Given the description of an element on the screen output the (x, y) to click on. 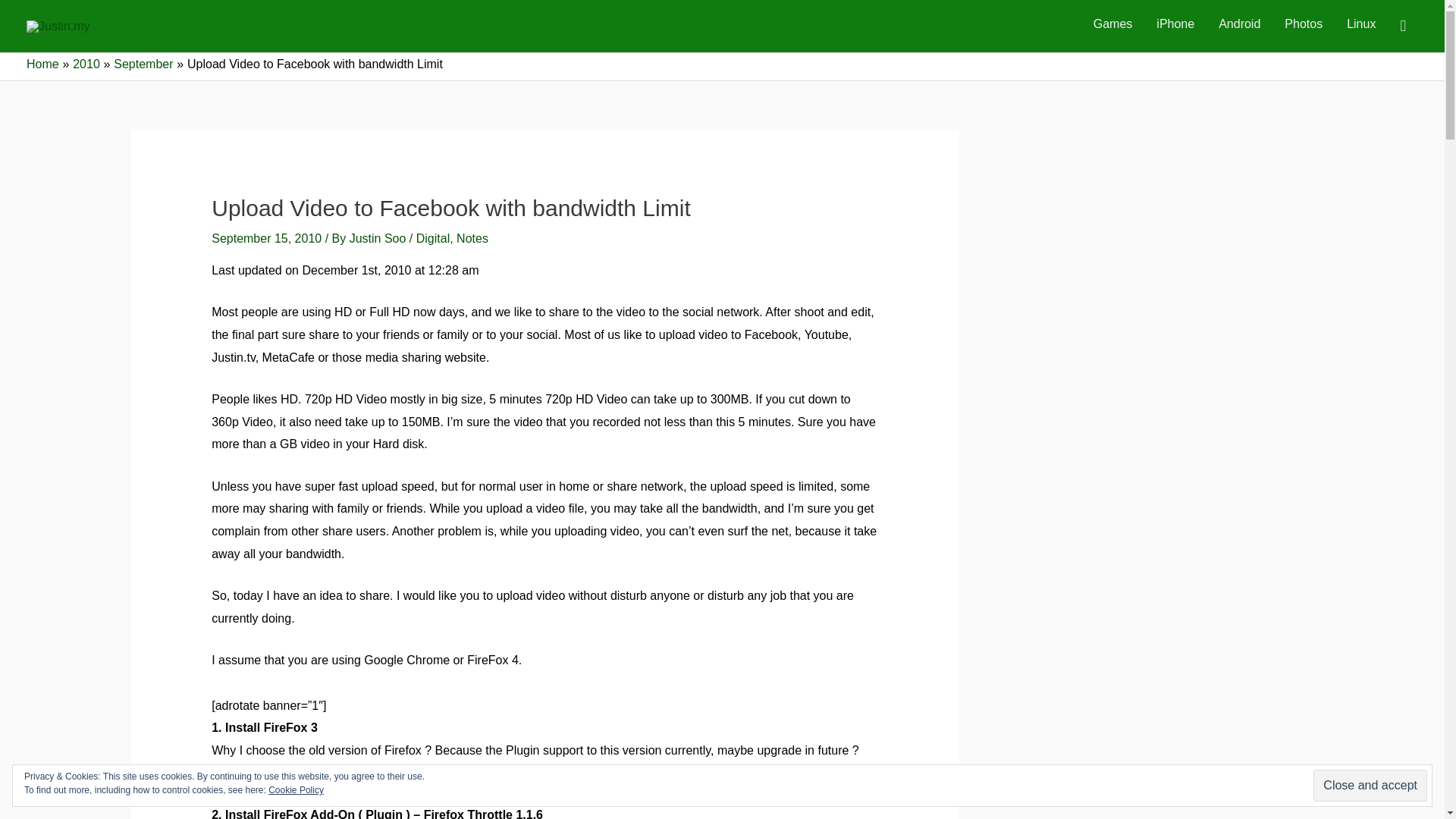
September (143, 63)
Notes (472, 237)
Justin Soo (379, 237)
Games (1112, 24)
Photos (1303, 24)
Close and accept (1369, 785)
Digital (432, 237)
View all posts by Justin Soo (379, 237)
here (731, 772)
Home (42, 63)
Android (1239, 24)
iPhone (1175, 24)
2010 (86, 63)
Linux (1361, 24)
